Given the description of an element on the screen output the (x, y) to click on. 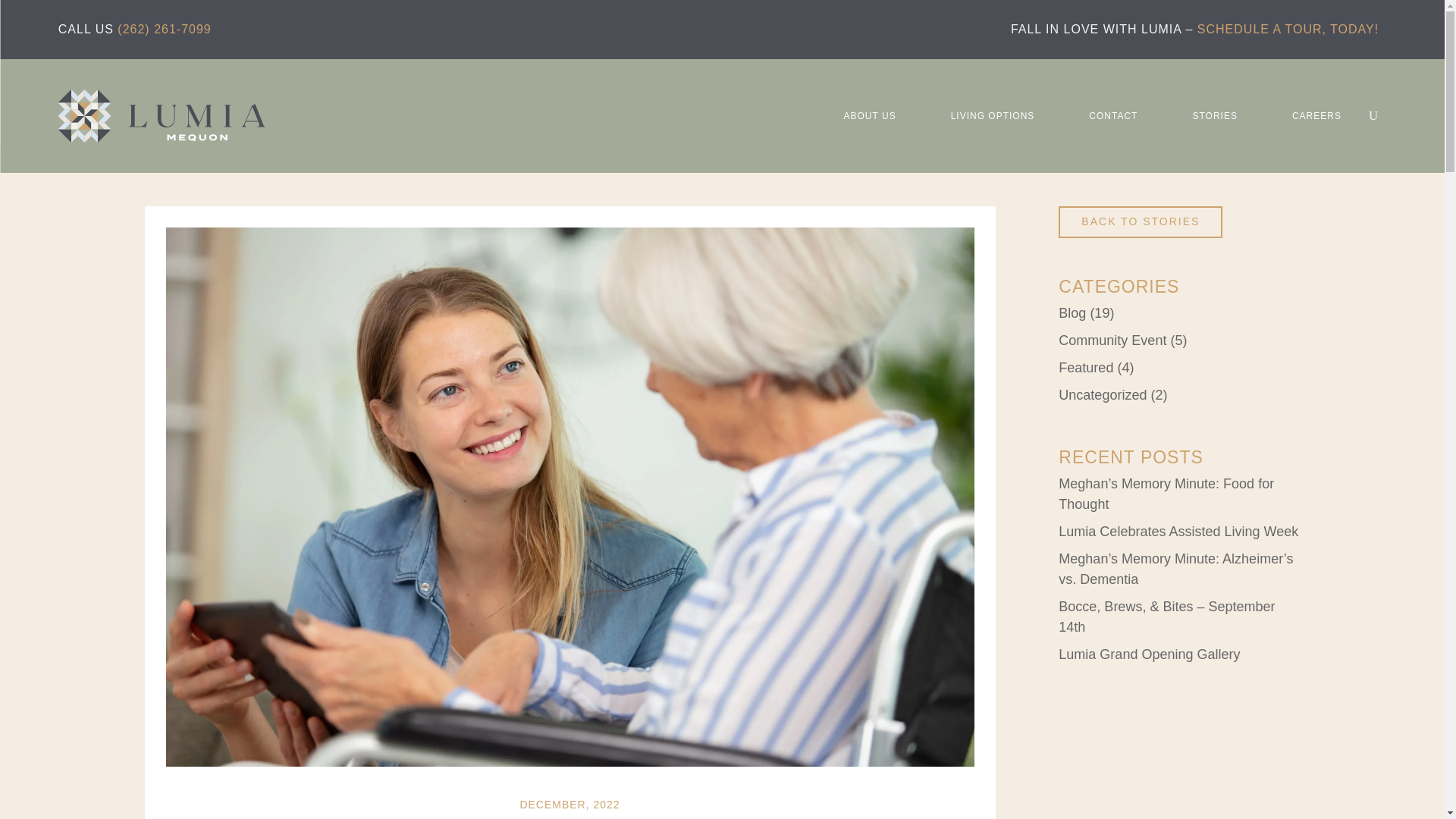
STORIES (1214, 115)
Blog (1072, 313)
BACK TO STORIES (1140, 222)
CONTACT (1113, 115)
LIVING OPTIONS (992, 115)
ABOUT US (870, 115)
SCHEDULE A TOUR, TODAY! (1287, 29)
CAREERS (1315, 115)
Community Event (1112, 340)
